Given the description of an element on the screen output the (x, y) to click on. 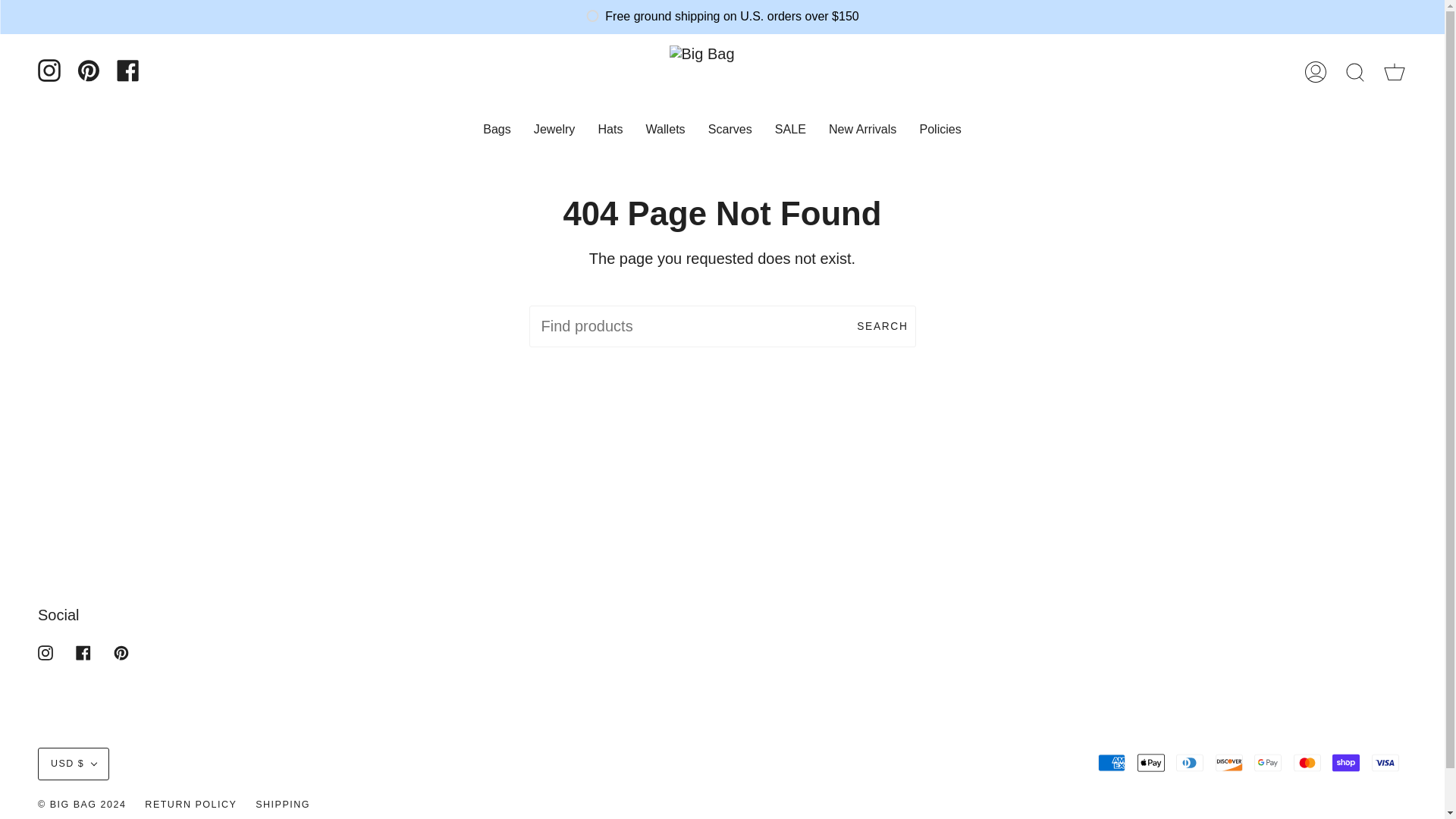
Shop Pay (1345, 762)
Pinterest (87, 70)
Search (1354, 71)
Facebook (127, 70)
Big Bag  on Pinterest (121, 651)
My Account (1315, 71)
Instagram (48, 70)
Bags (496, 129)
Visa (1385, 762)
Diners Club (1190, 762)
Discover (1229, 762)
Big Bag  on Pinterest (87, 70)
American Express (1111, 762)
My Account (1315, 71)
Big Bag  on Facebook (82, 651)
